Given the description of an element on the screen output the (x, y) to click on. 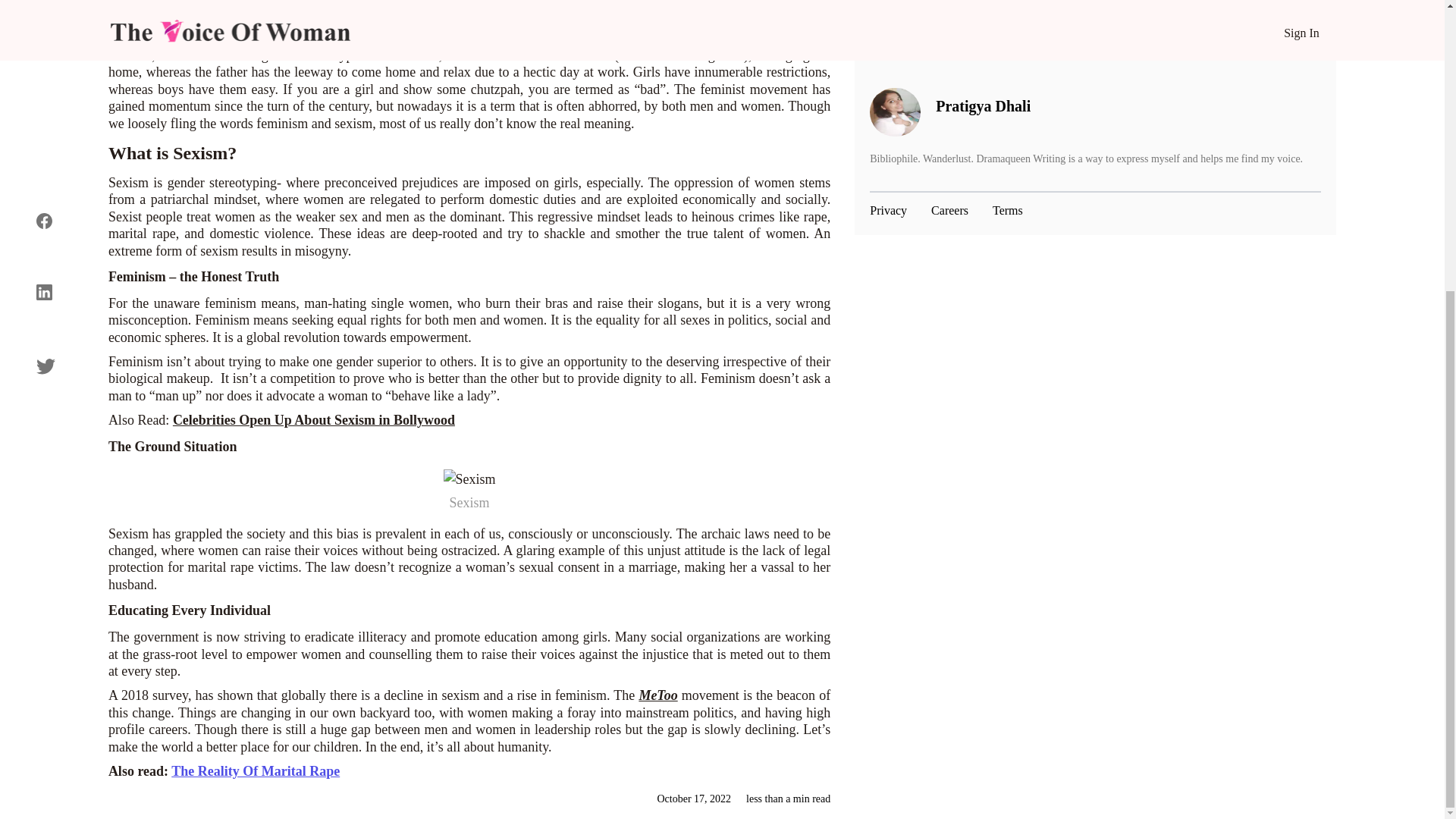
0 (638, 1)
The Reality Of Marital Rape (255, 770)
Celebrities Open Up About Sexism in Bollywood (313, 419)
MeToo (658, 694)
